Given the description of an element on the screen output the (x, y) to click on. 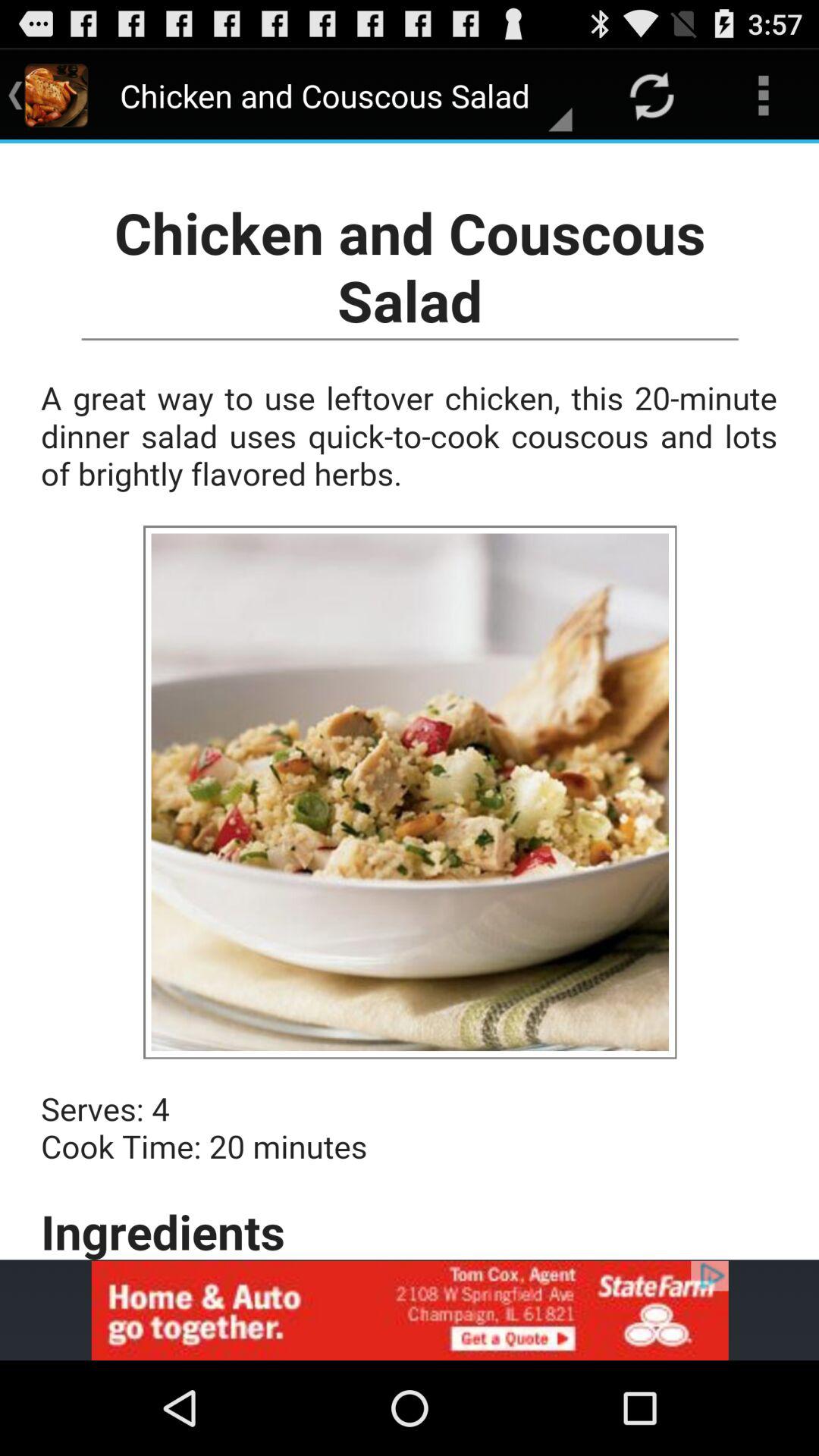
click recipe in middle (409, 701)
